Given the description of an element on the screen output the (x, y) to click on. 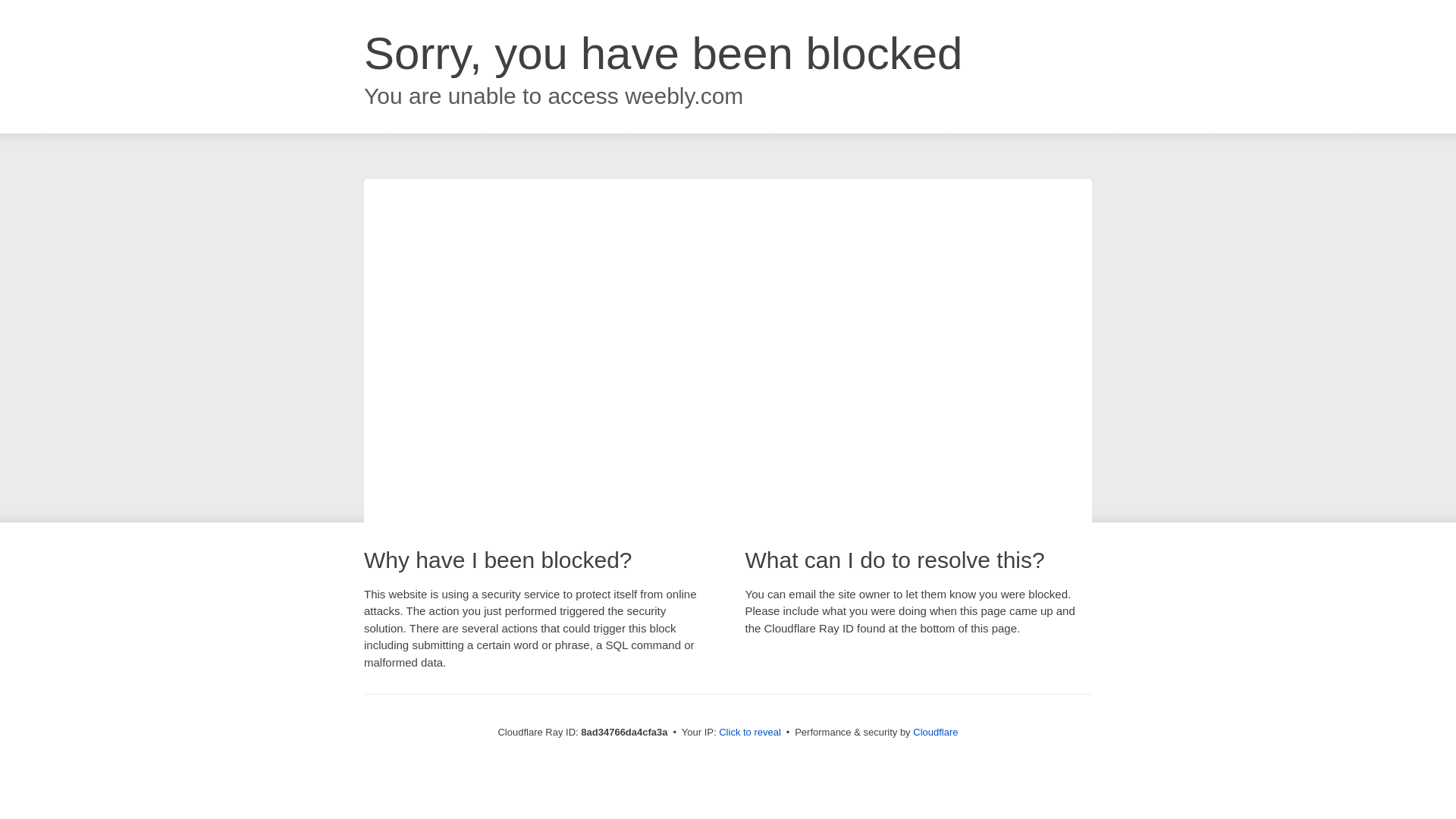
Cloudflare (935, 731)
Click to reveal (749, 732)
